Given the description of an element on the screen output the (x, y) to click on. 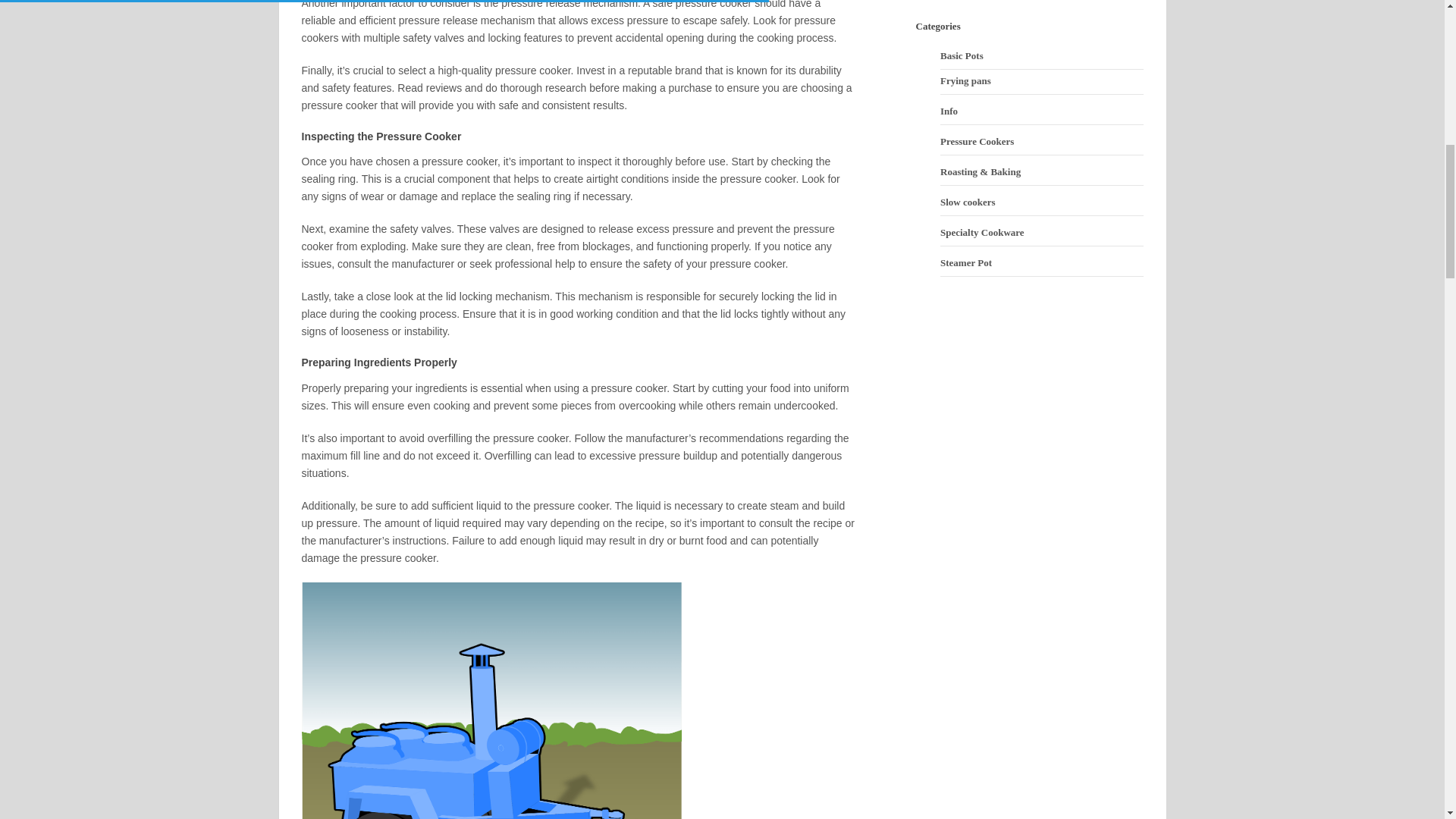
Safety Tips For Using Your Stainless Steel Pressure Cooker (491, 700)
